Given the description of an element on the screen output the (x, y) to click on. 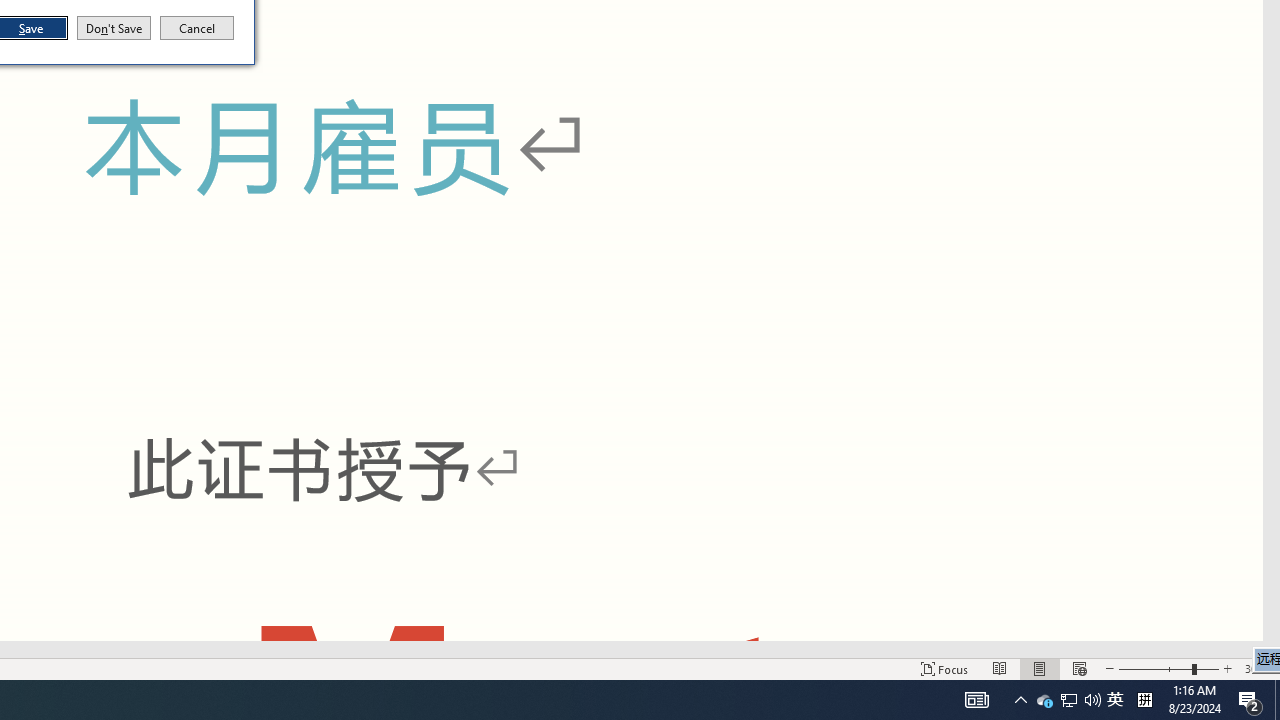
Action Center, 2 new notifications (1250, 699)
Notification Chevron (1044, 699)
